Given the description of an element on the screen output the (x, y) to click on. 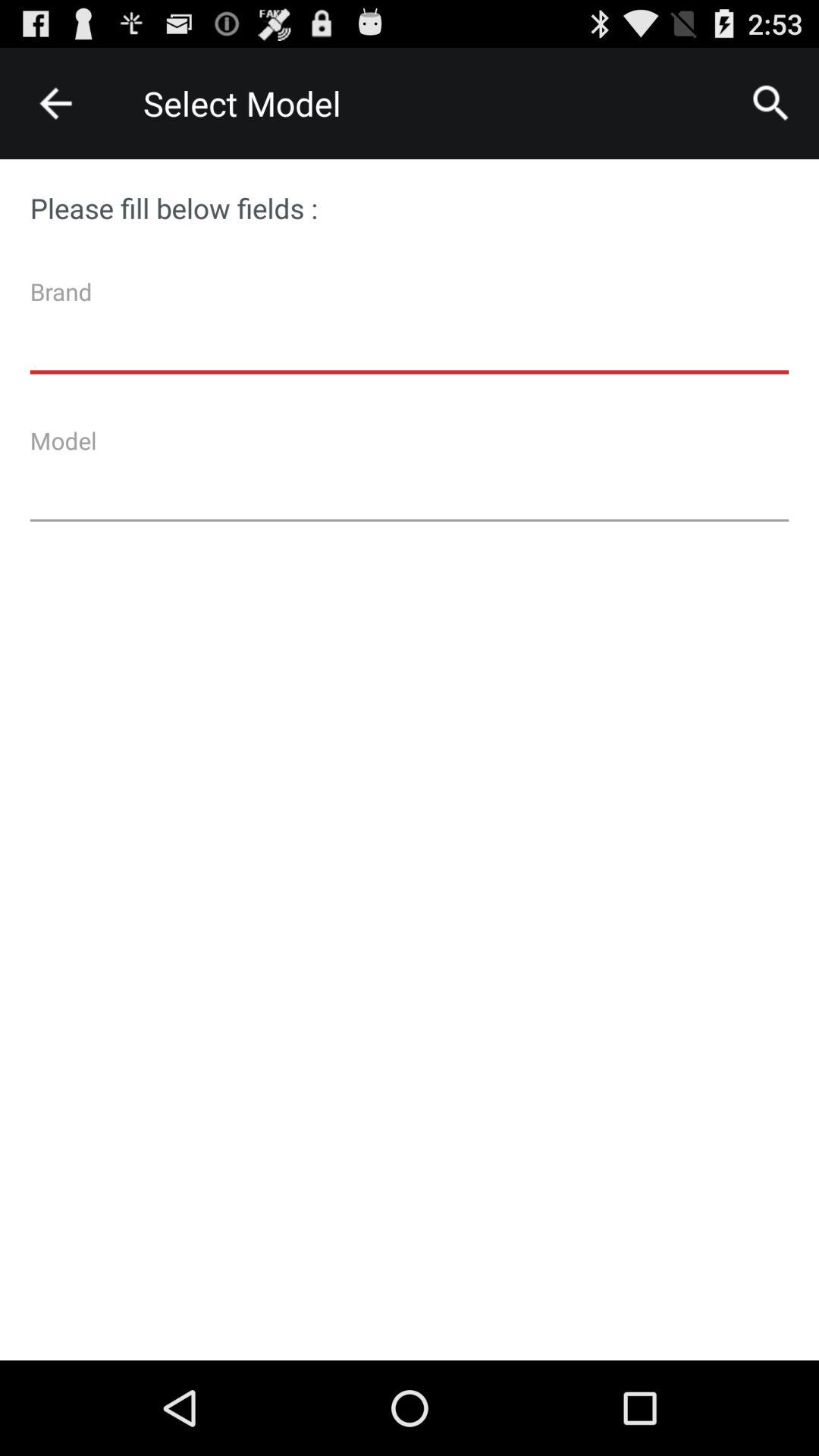
insert brand name (409, 331)
